Given the description of an element on the screen output the (x, y) to click on. 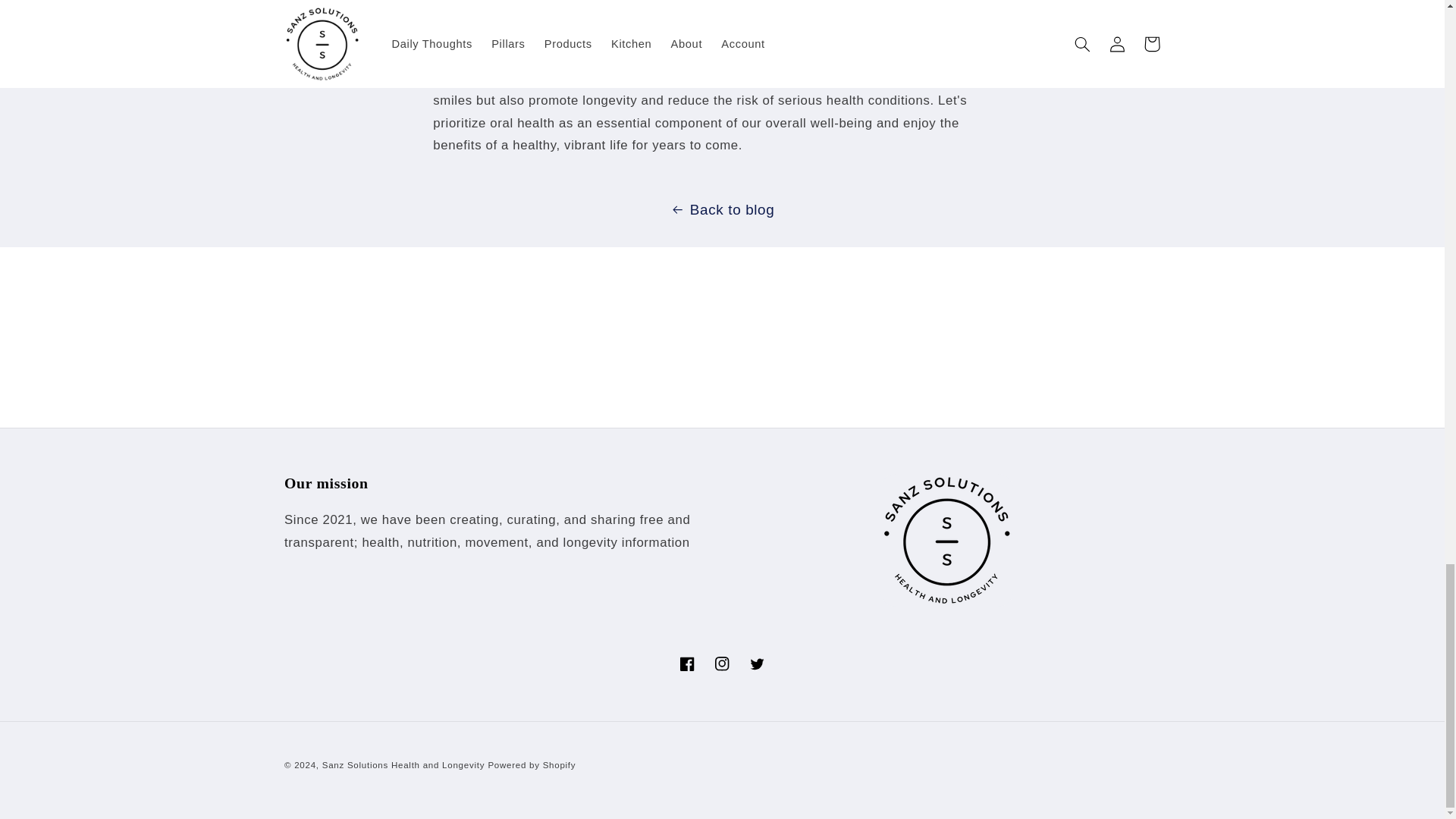
Powered by Shopify (531, 764)
Sanz Solutions Health and Longevity (402, 764)
Facebook (686, 663)
Instagram (721, 663)
Twitter (756, 663)
